Given the description of an element on the screen output the (x, y) to click on. 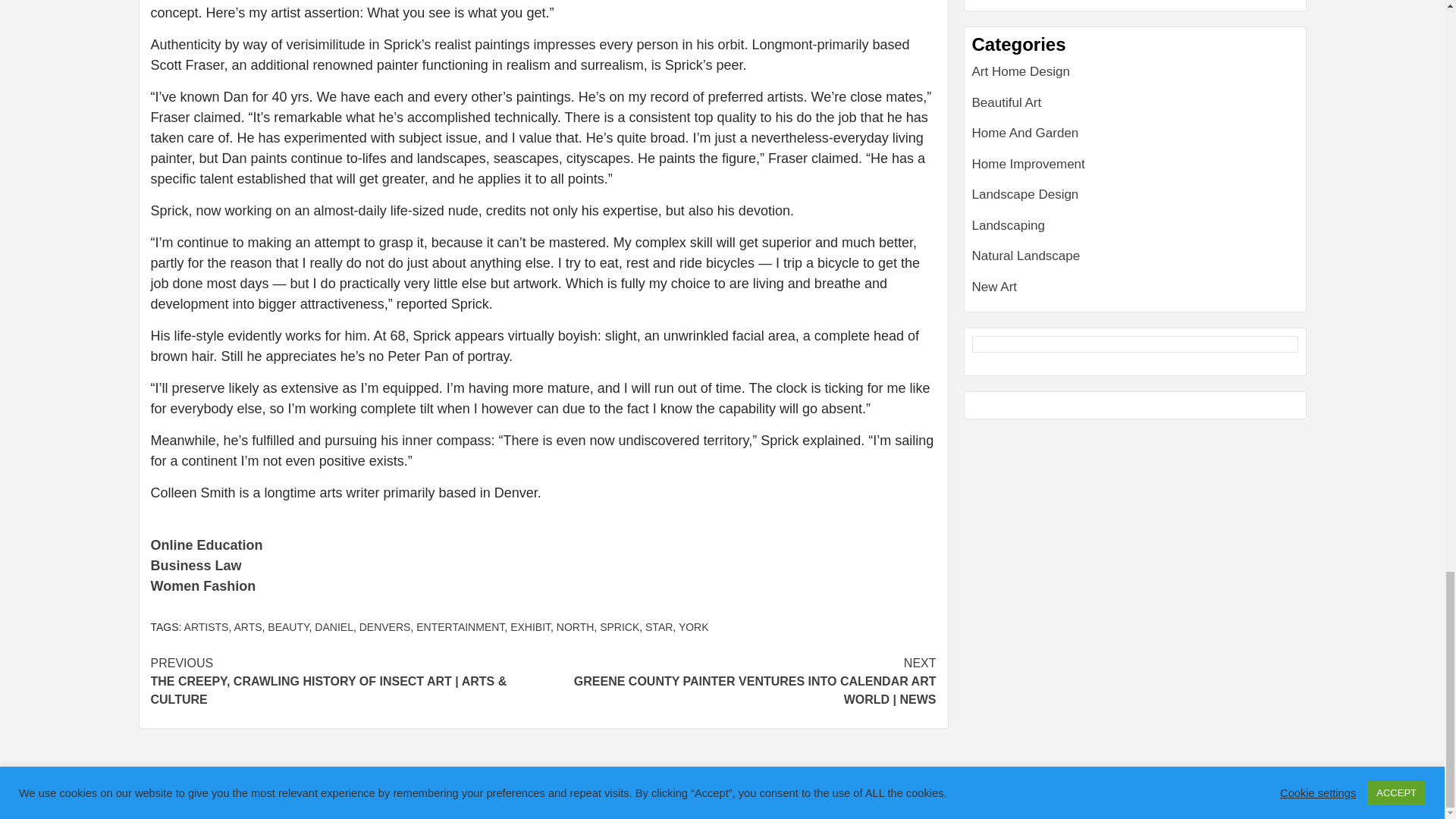
ARTS (247, 626)
Women Fashion (202, 585)
DENVERS (384, 626)
Online Education (205, 544)
NORTH (575, 626)
EXHIBIT (530, 626)
ENTERTAINMENT (459, 626)
SPRICK (619, 626)
BEAUTY (287, 626)
Business Law (195, 565)
